Given the description of an element on the screen output the (x, y) to click on. 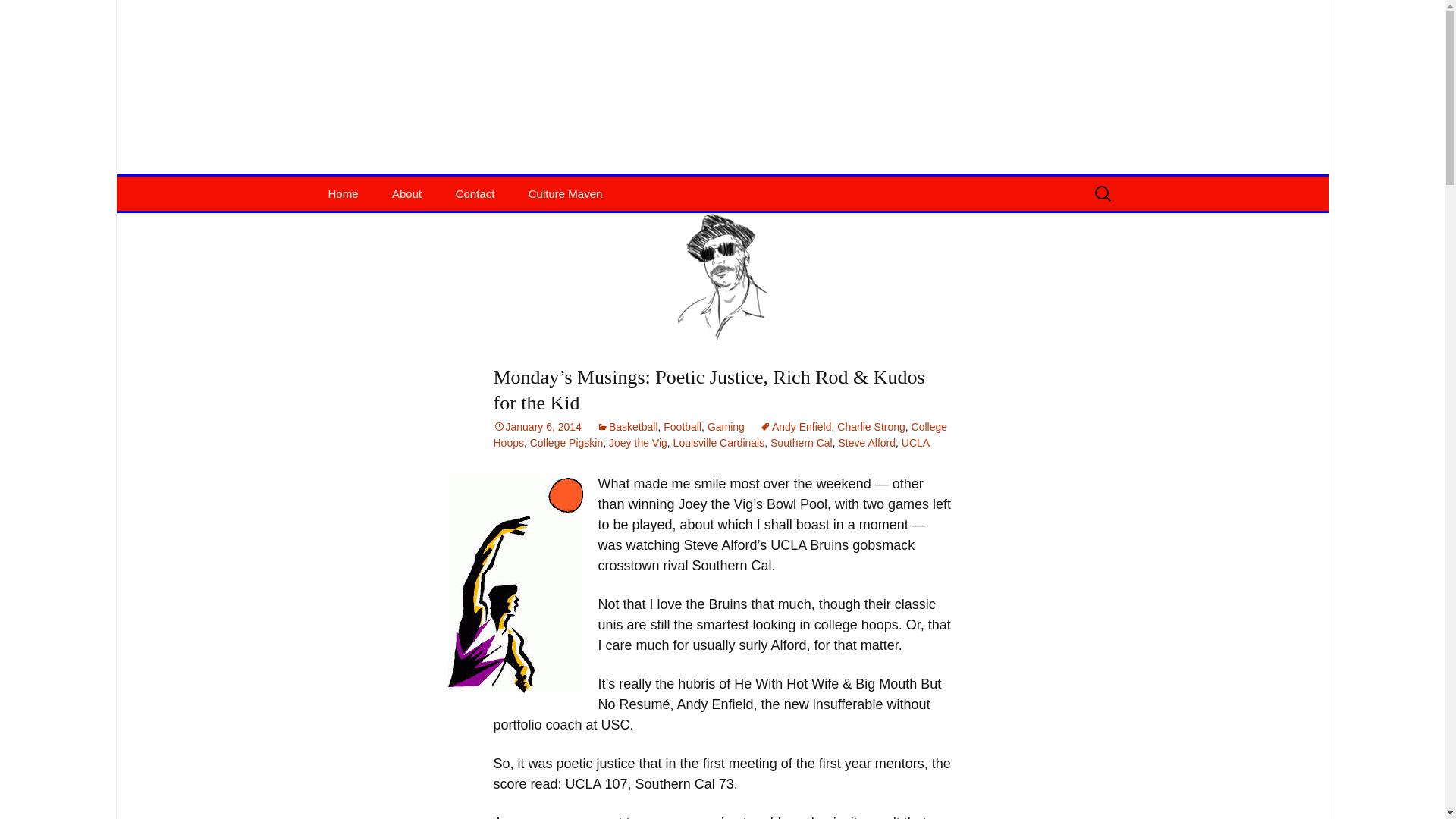
January 6, 2014 (536, 426)
Charlie Strong (871, 426)
Louisville Cardinals (718, 442)
Basketball (627, 426)
Culture Maven (565, 193)
Steve Alford (867, 442)
Search (18, 15)
College Hoops (720, 434)
Home (342, 193)
Contact (476, 193)
About (406, 193)
Football (682, 426)
Southern Cal (801, 442)
Search (34, 15)
Joey the Vig (637, 442)
